Given the description of an element on the screen output the (x, y) to click on. 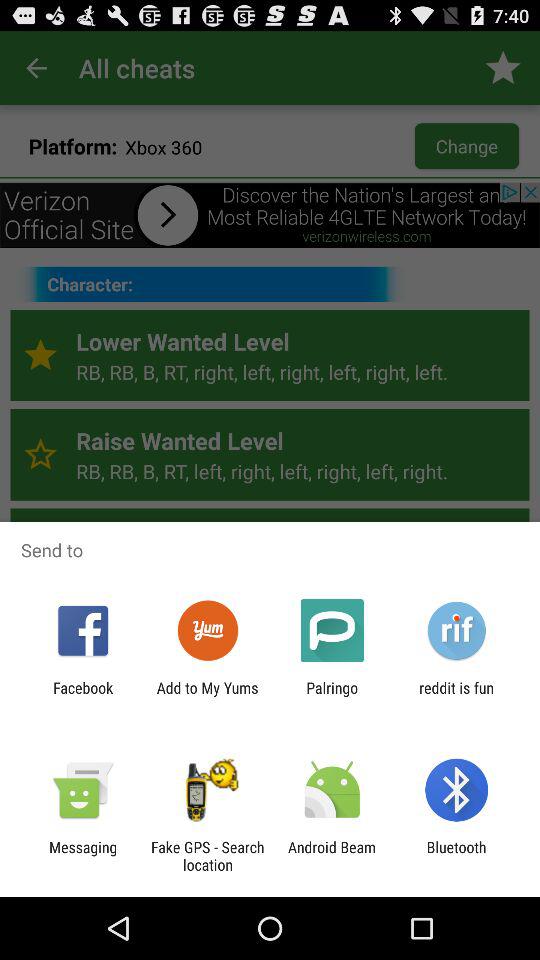
tap the app to the left of add to my app (83, 696)
